Given the description of an element on the screen output the (x, y) to click on. 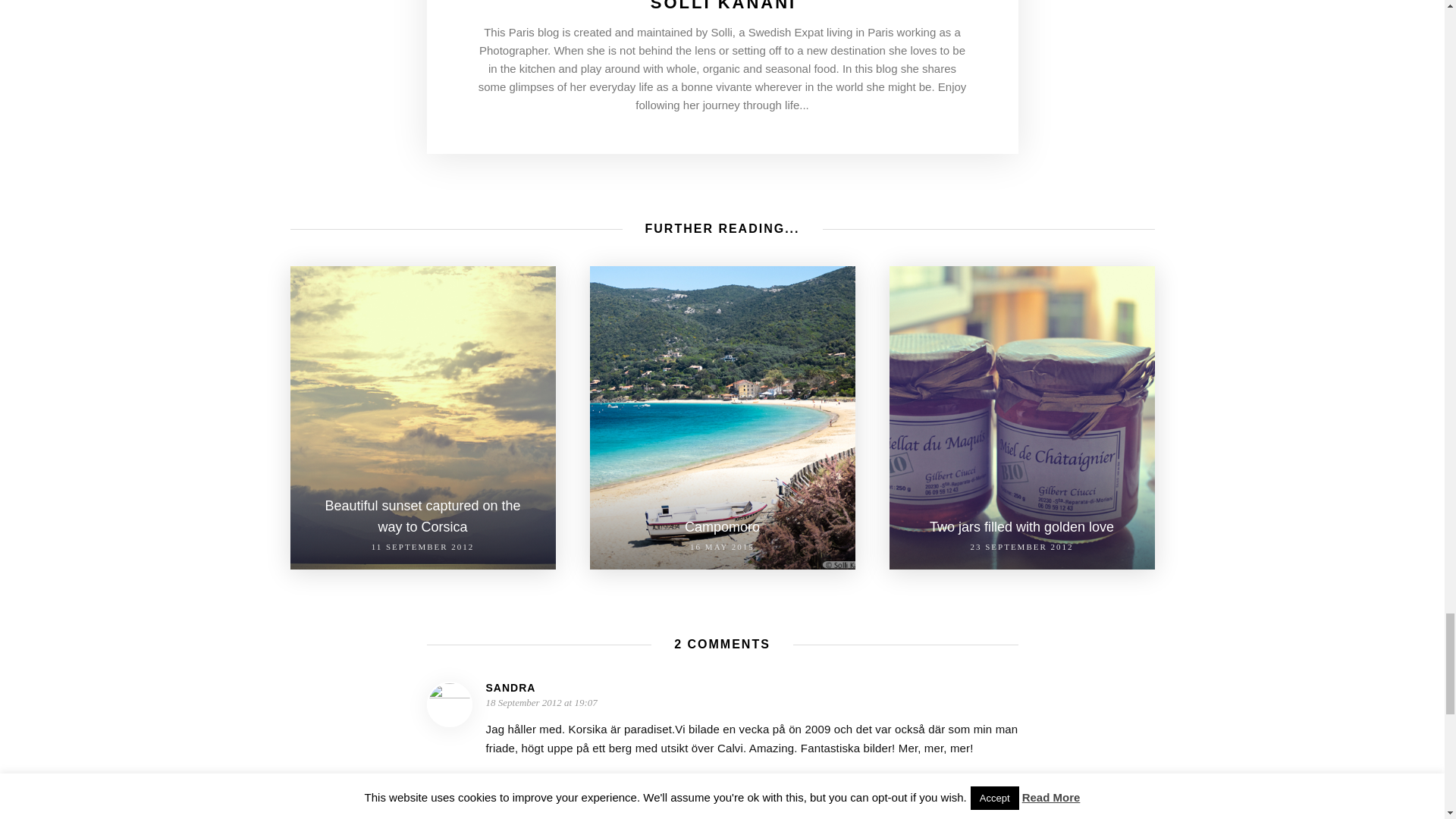
Posts by Solli Kanani (723, 6)
